Given the description of an element on the screen output the (x, y) to click on. 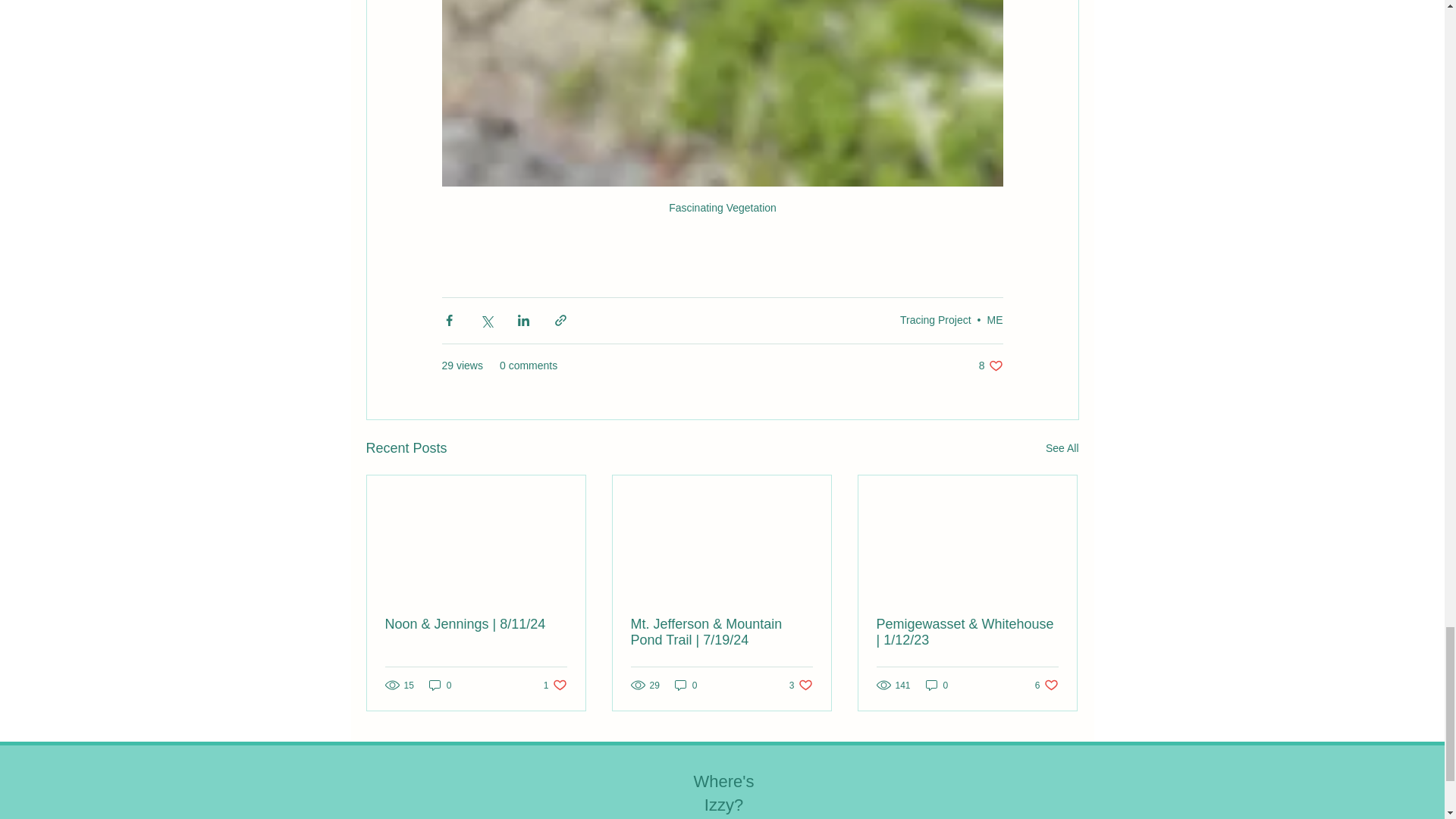
0 (685, 685)
Tracing Project (935, 319)
0 (440, 685)
0 (937, 685)
See All (555, 685)
ME (1061, 448)
